Given the description of an element on the screen output the (x, y) to click on. 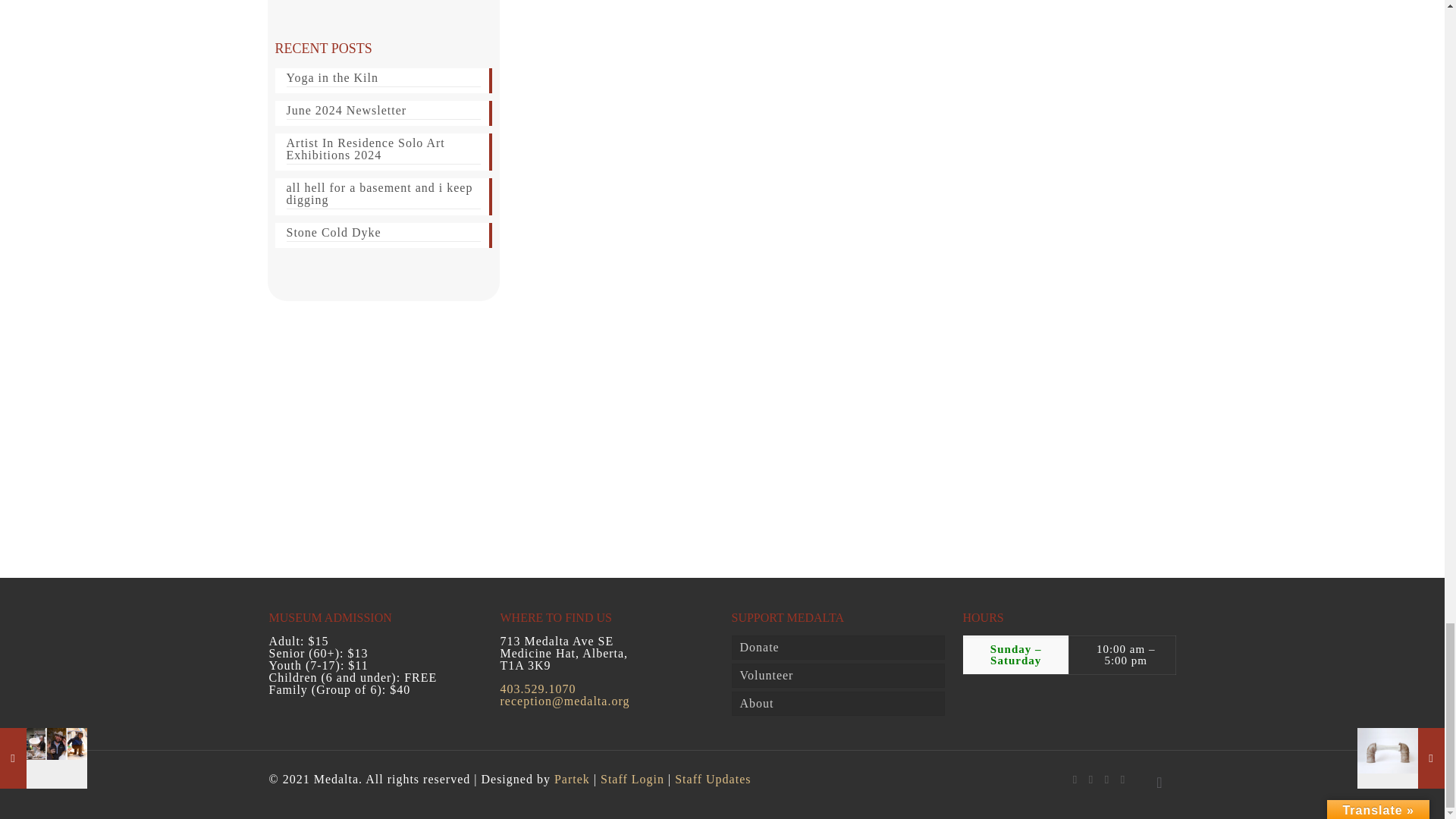
Facebook (1074, 779)
YouTube (1106, 779)
Instagram (1123, 779)
